Given the description of an element on the screen output the (x, y) to click on. 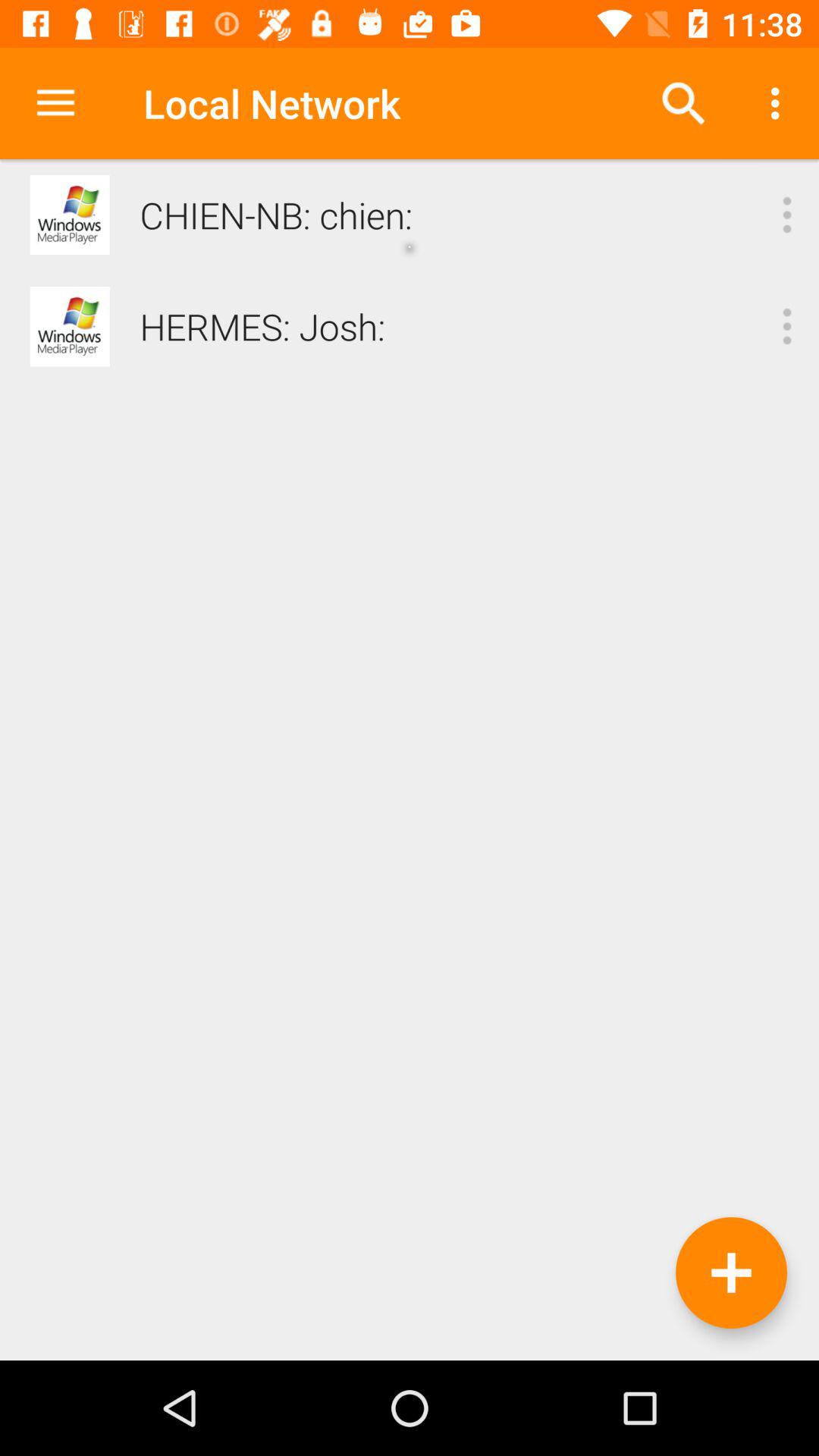
turn off app to the left of local network app (55, 103)
